Given the description of an element on the screen output the (x, y) to click on. 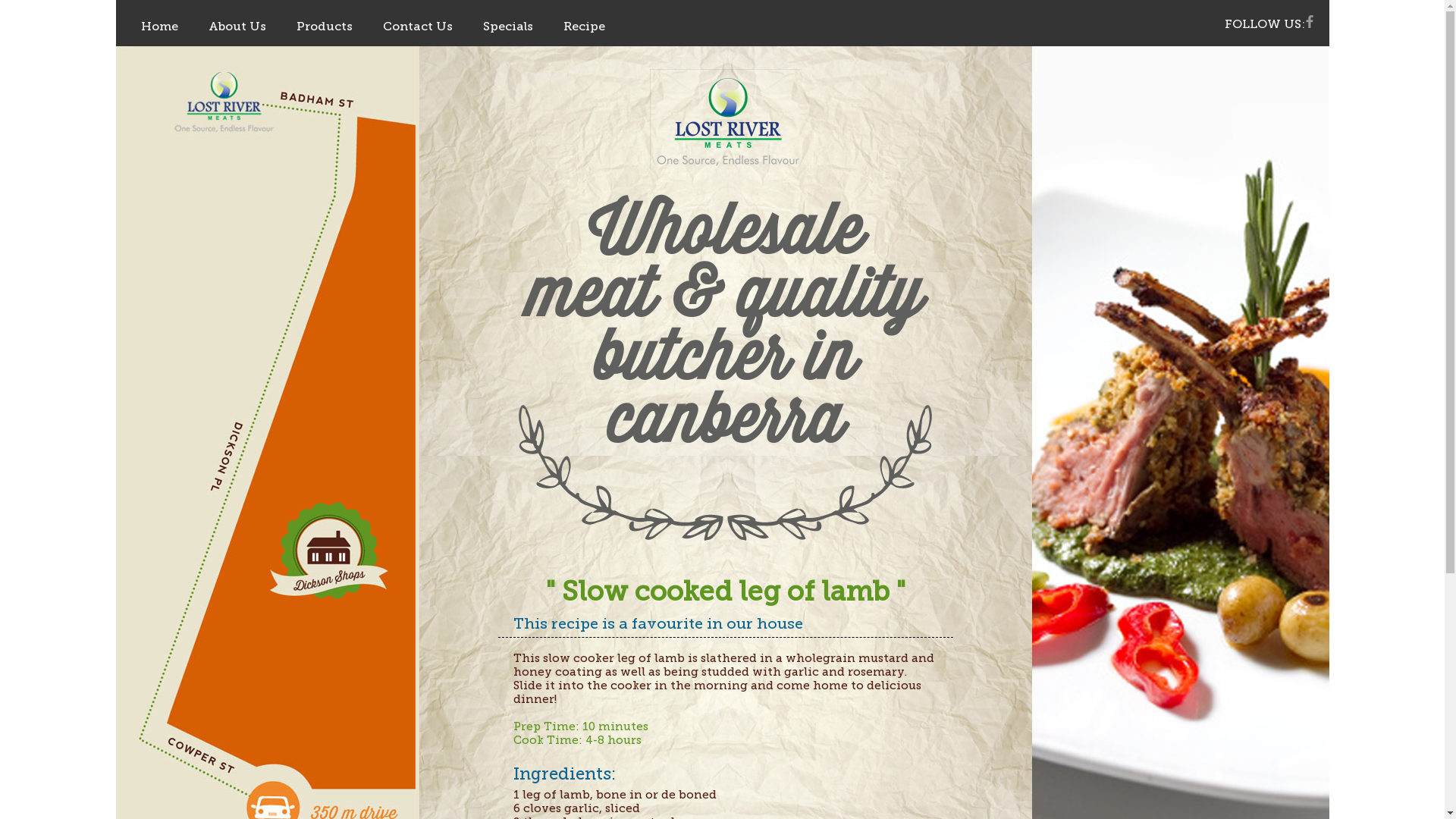
Products Element type: text (323, 25)
Recipe Element type: text (583, 25)
Home Element type: text (159, 25)
About Us Element type: text (236, 25)
Contact Us Element type: text (416, 25)
LOST RIVER Element type: hover (724, 119)
Specials Element type: text (507, 25)
